Given the description of an element on the screen output the (x, y) to click on. 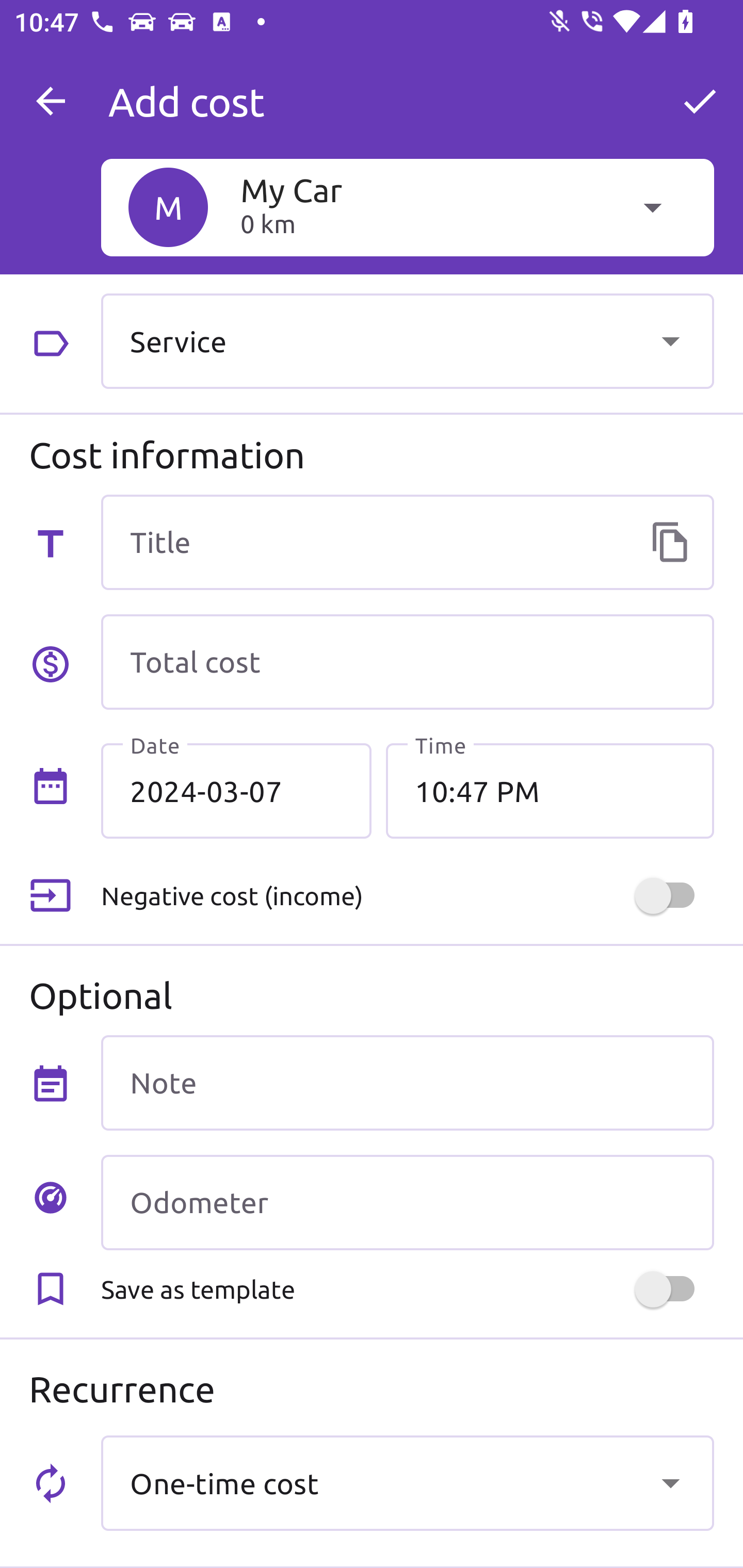
Navigate up (50, 101)
OK (699, 101)
M My Car 0 km (407, 206)
Service (407, 340)
Show dropdown menu (670, 340)
Title (407, 541)
Templates (670, 541)
Total cost  (407, 662)
2024-03-07 (236, 790)
10:47 PM (549, 790)
Negative cost (income) (407, 895)
Note (407, 1082)
Odometer (407, 1202)
Save as template (407, 1289)
One-time cost (407, 1482)
Show dropdown menu (670, 1482)
